Given the description of an element on the screen output the (x, y) to click on. 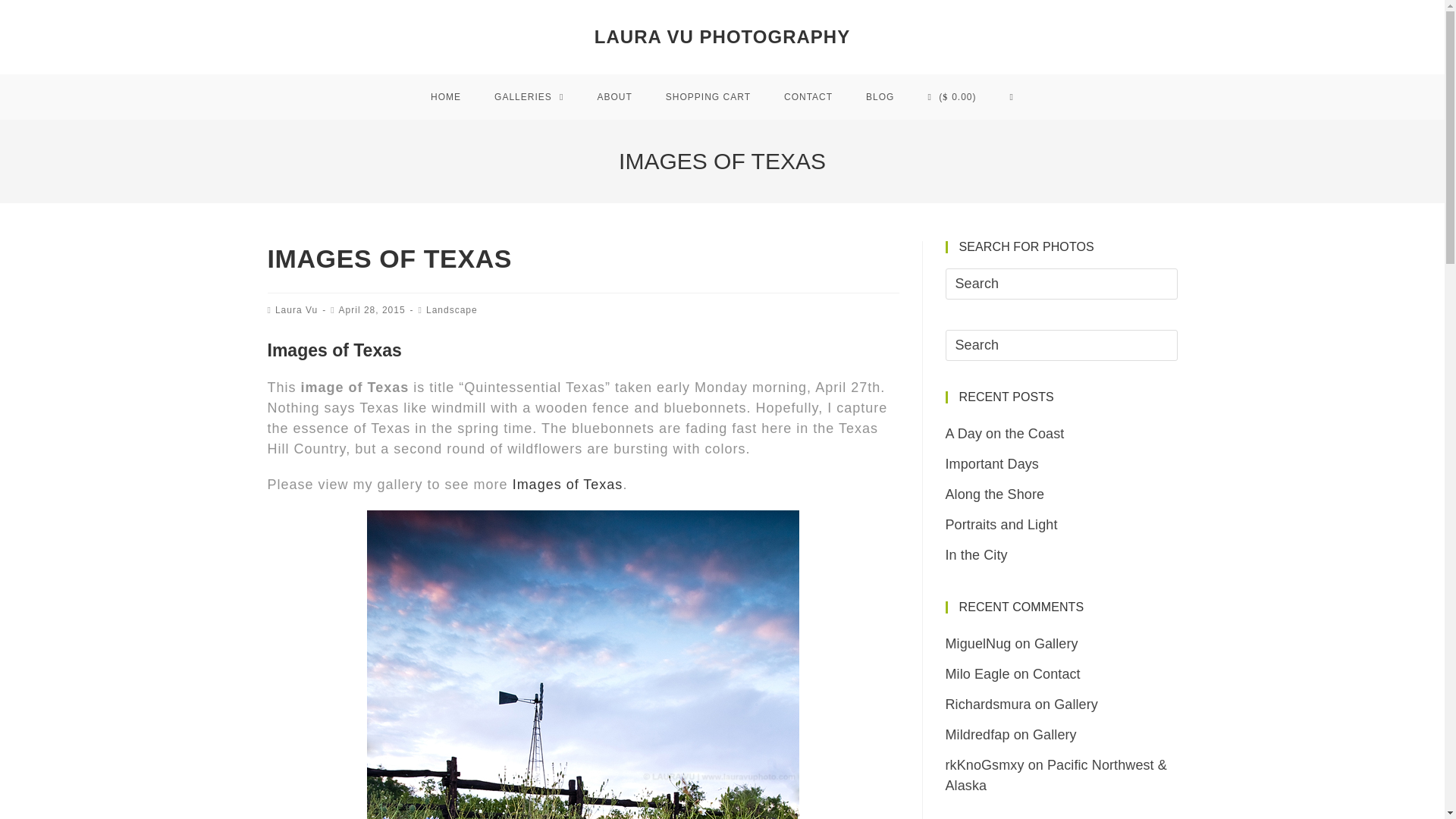
SHOPPING CART (708, 96)
Laura Vu (296, 309)
Important Days (991, 463)
Contact (1056, 673)
In the City (975, 554)
LAURA VU PHOTOGRAPHY (722, 36)
Texas landscape photography (567, 484)
Along the Shore (993, 494)
CONTACT (807, 96)
A Day on the Coast (1004, 433)
Landscape (451, 309)
Portraits and Light (1000, 524)
GALLERIES (528, 96)
BLOG (879, 96)
Posts by Laura Vu (296, 309)
